Given the description of an element on the screen output the (x, y) to click on. 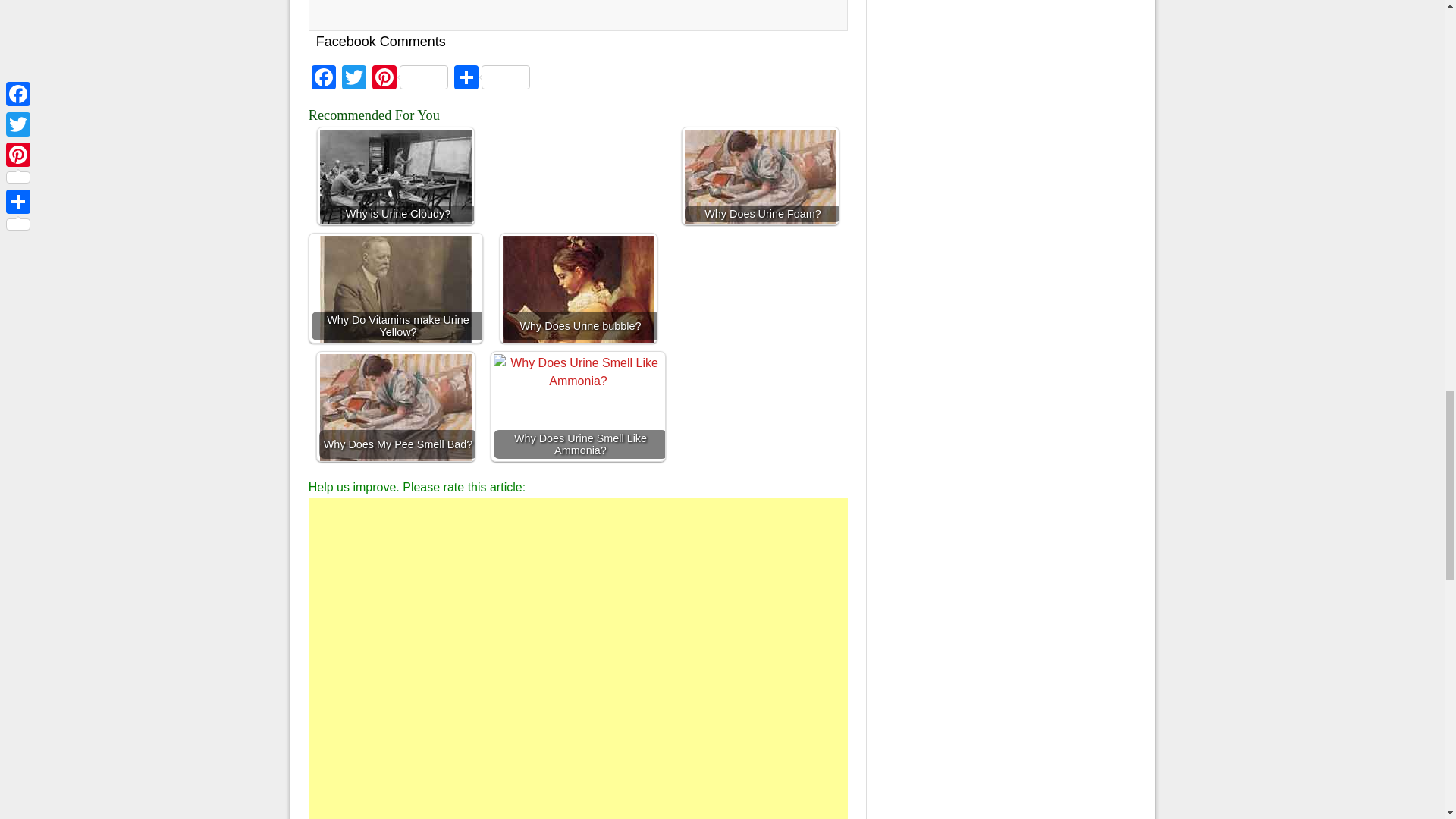
Why Does Urine Foam? (760, 175)
Why is Urine Cloudy? (395, 175)
Why Do Vitamins make Urine Yellow? (395, 288)
Twitter (354, 79)
Why Does My Pee Smell Bad? (395, 427)
Twitter (354, 79)
Why Does Urine Smell Like Ammonia? (577, 434)
Why Do Vitamins make Urine Yellow? (395, 297)
Pinterest (410, 79)
Pinterest (410, 79)
Why Does My Pee Smell Bad? (396, 406)
Why Does Urine Foam? (759, 203)
Facebook (323, 79)
Facebook (323, 79)
